Given the description of an element on the screen output the (x, y) to click on. 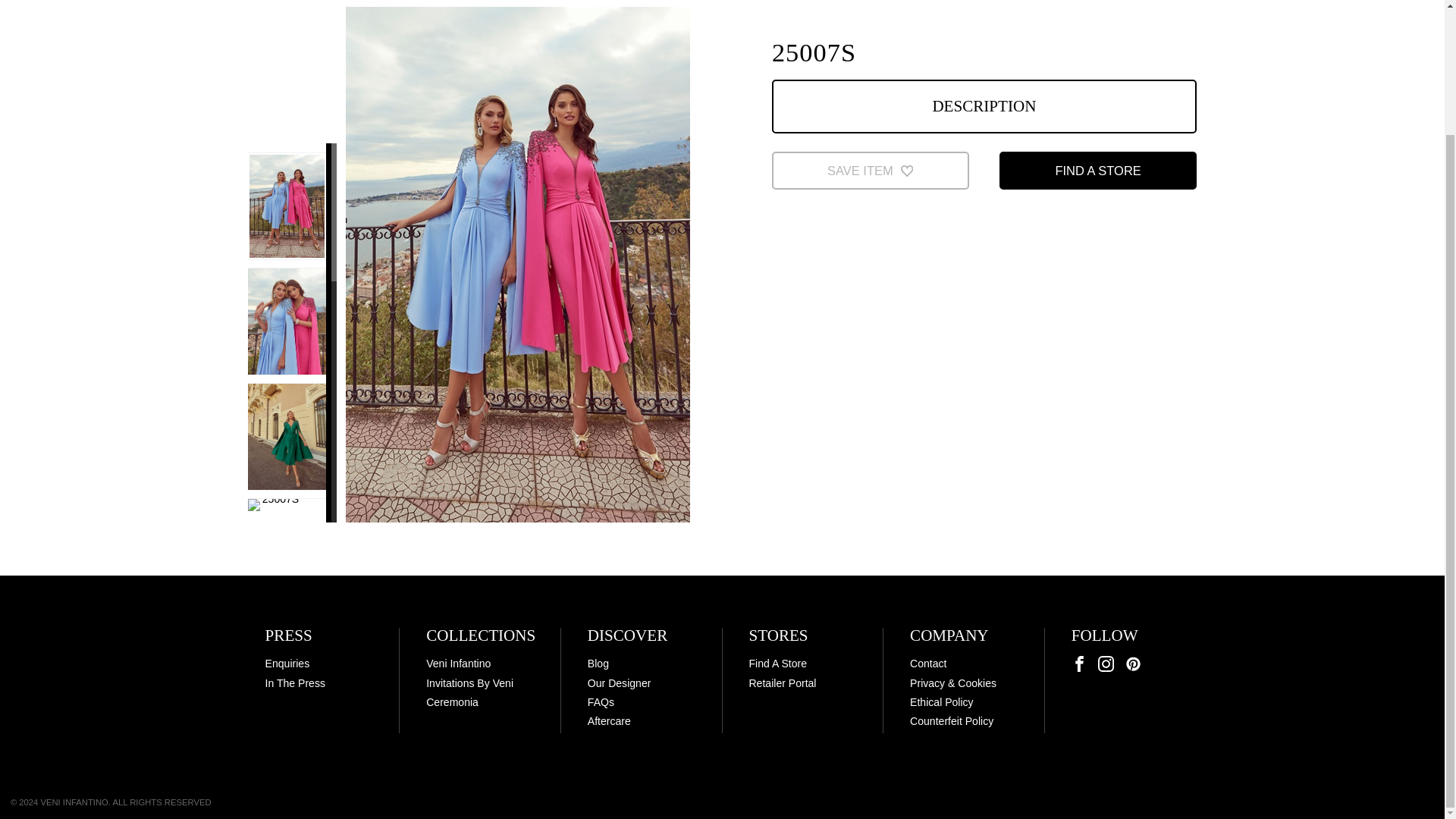
Our Designer (619, 683)
Invitations By Veni (469, 683)
FAQs (601, 702)
Retailer Portal (781, 683)
SAVE ITEM (870, 170)
Aftercare (609, 720)
FIND A STORE (1097, 170)
YouTube video player (983, 323)
Blog (598, 663)
In The Press (294, 683)
